Given the description of an element on the screen output the (x, y) to click on. 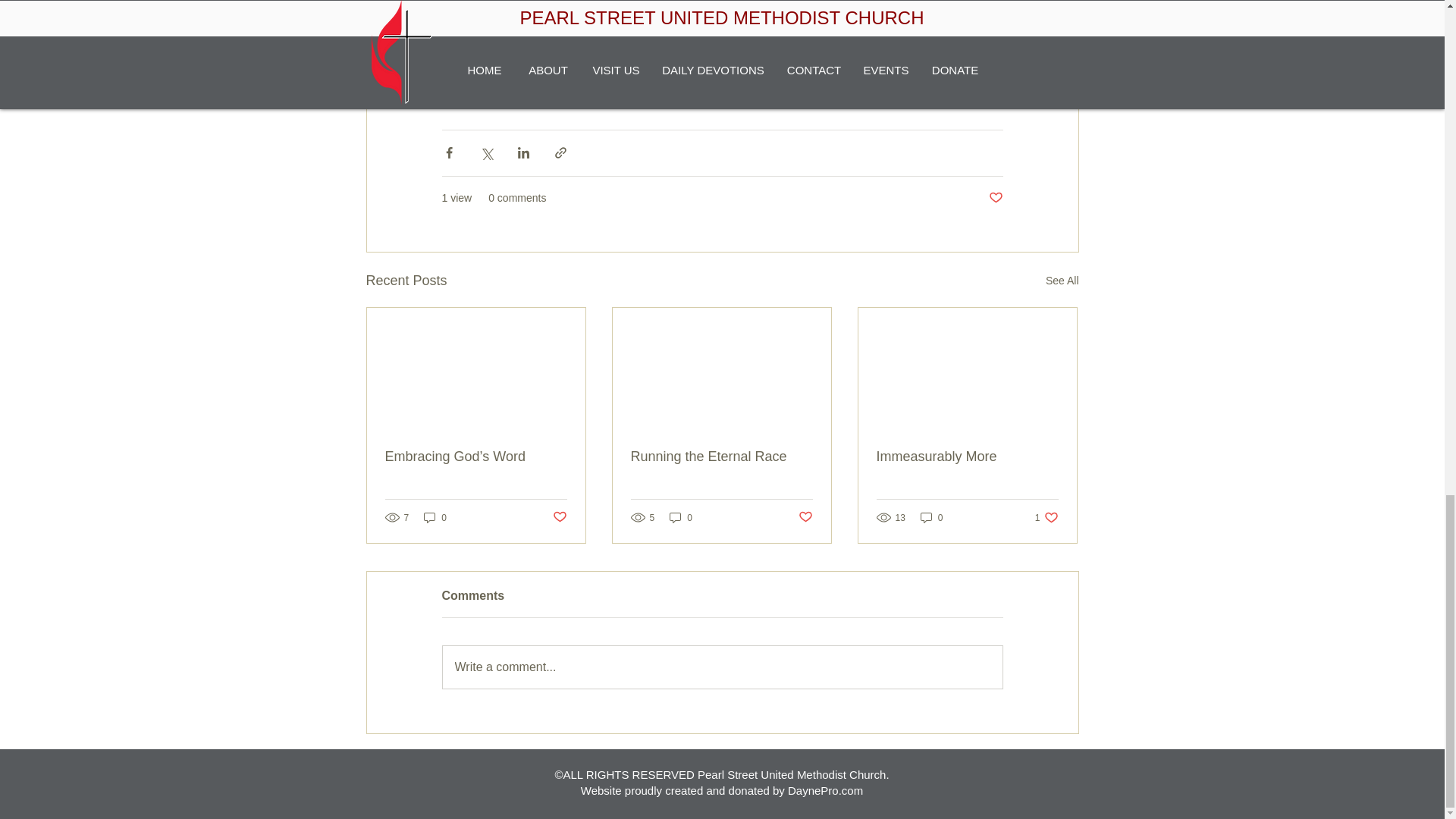
Running the Eternal Race (721, 456)
See All (1061, 280)
0 (681, 517)
Immeasurably More (967, 456)
Post not marked as liked (804, 517)
0 (435, 517)
0 (931, 517)
Post not marked as liked (1046, 517)
Write a comment... (995, 198)
Post not marked as liked (722, 667)
